Given the description of an element on the screen output the (x, y) to click on. 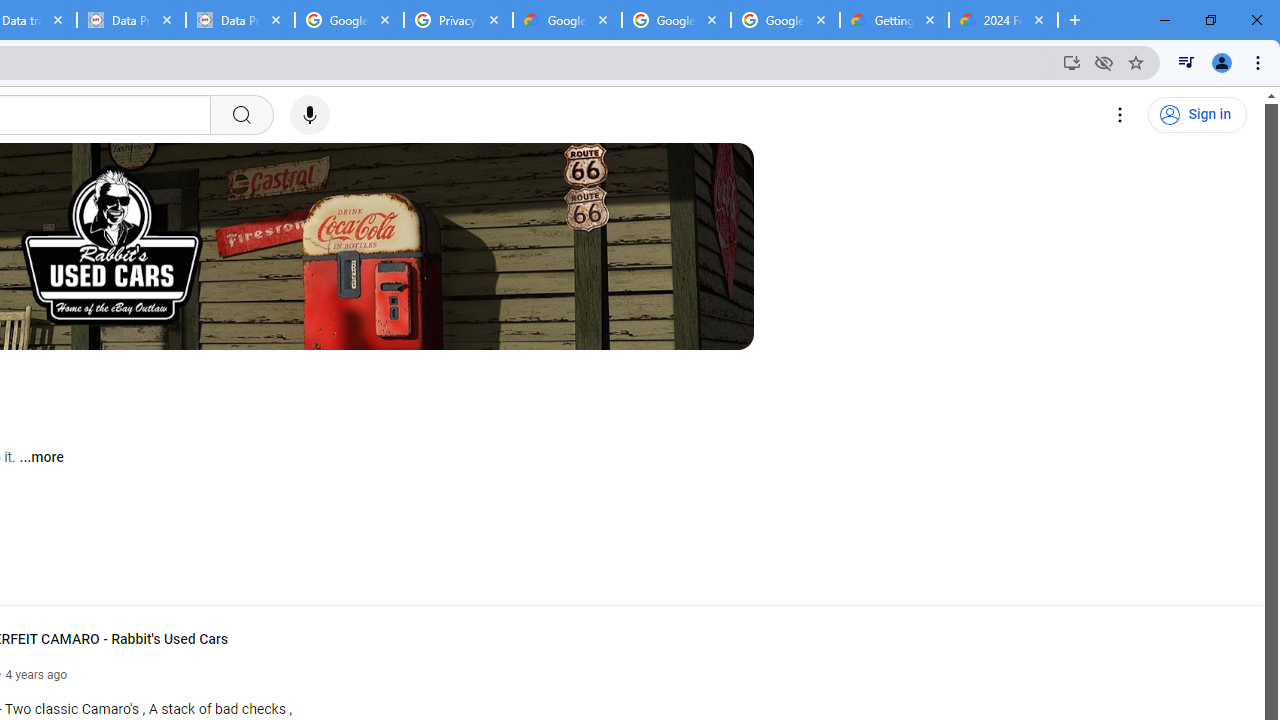
Data Privacy Framework (240, 20)
Google Cloud Terms Directory | Google Cloud (567, 20)
Google Workspace - Specific Terms (676, 20)
